Given the description of an element on the screen output the (x, y) to click on. 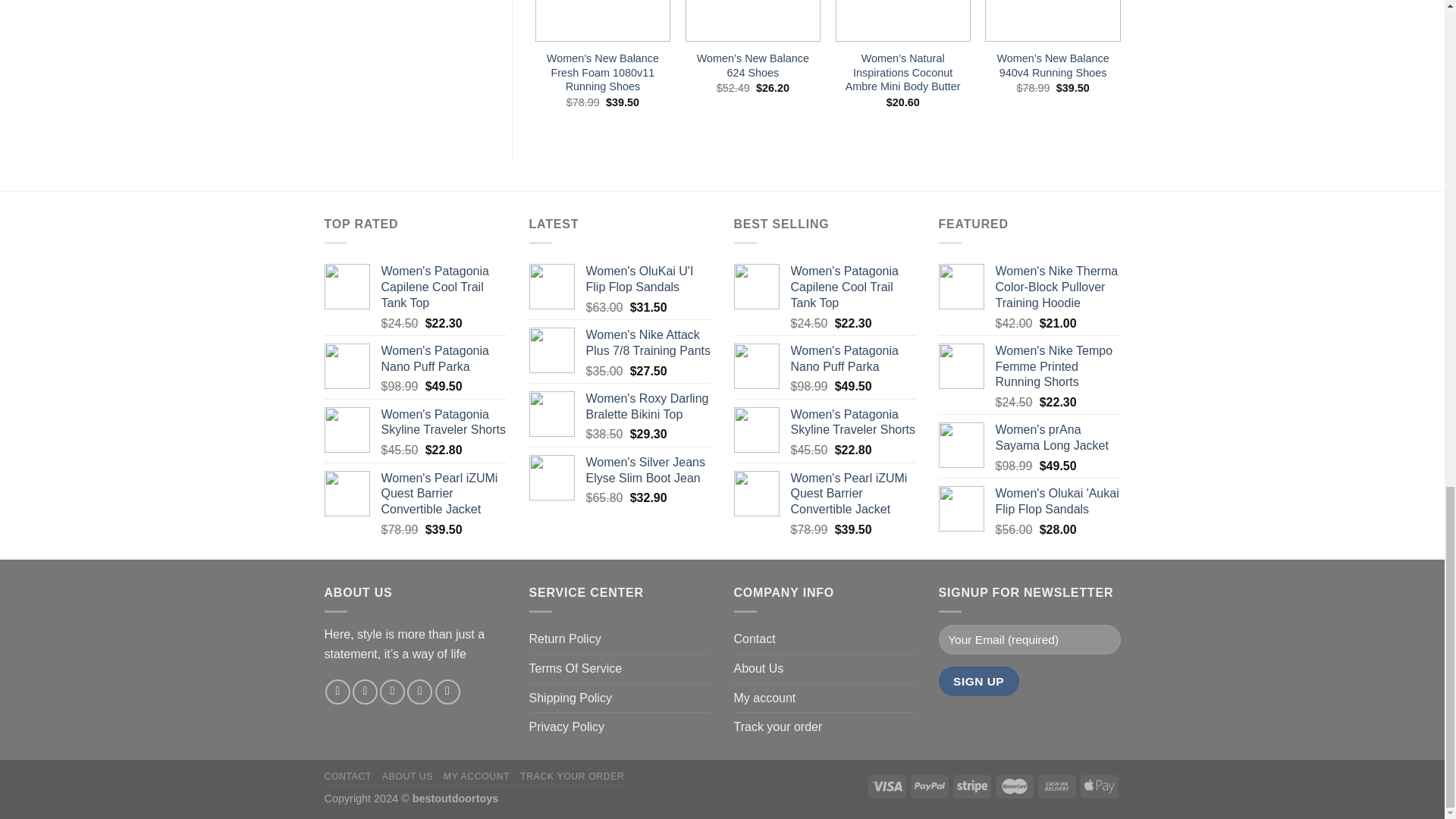
Sign Up (979, 681)
